Given the description of an element on the screen output the (x, y) to click on. 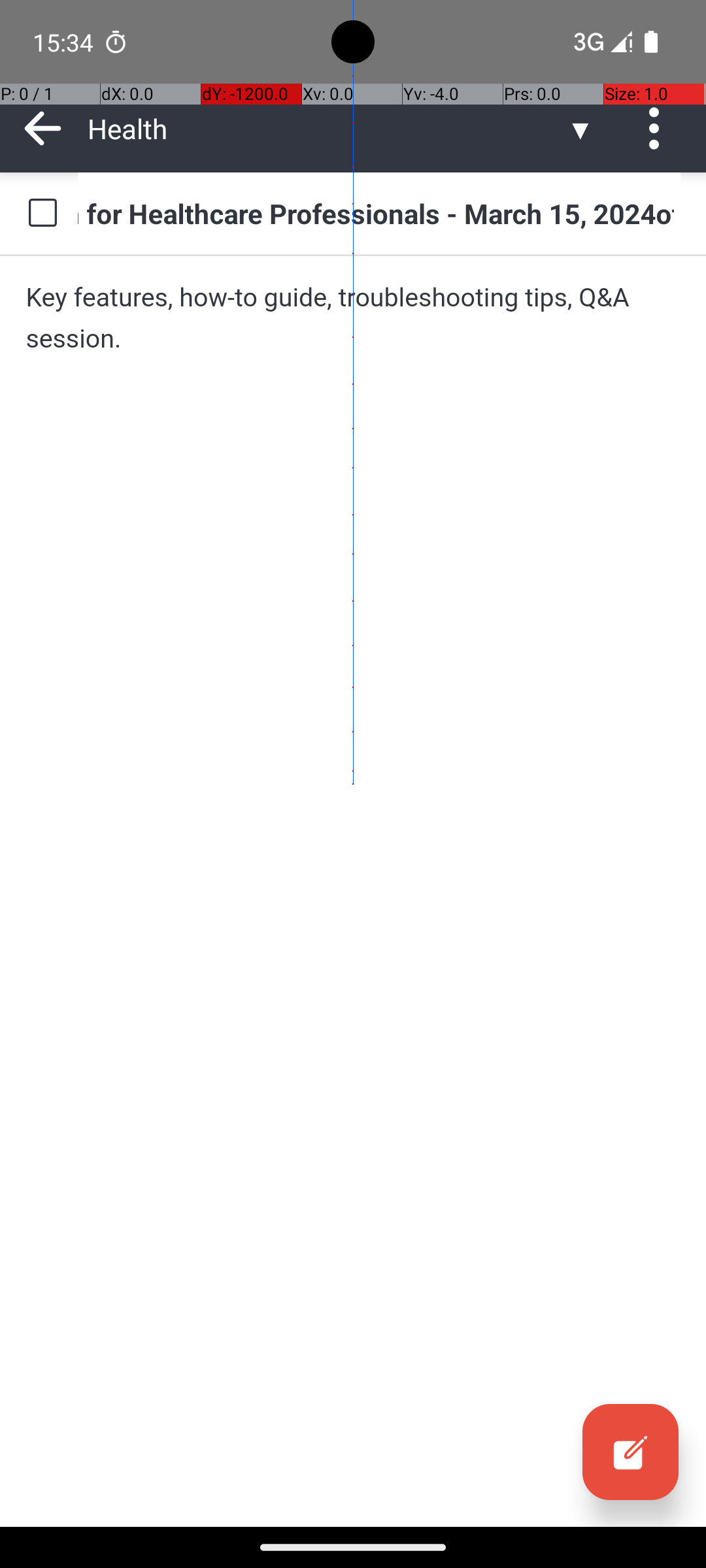
Training Session - New SNew Software Training Session for Healthcare Professionals - March 15, 2024oftware - March 7, 2024 Element type: android.widget.EditText (378, 213)
Key features, how-to guide, troubleshooting tips, Q&A session. Element type: android.widget.TextView (352, 317)
